Given the description of an element on the screen output the (x, y) to click on. 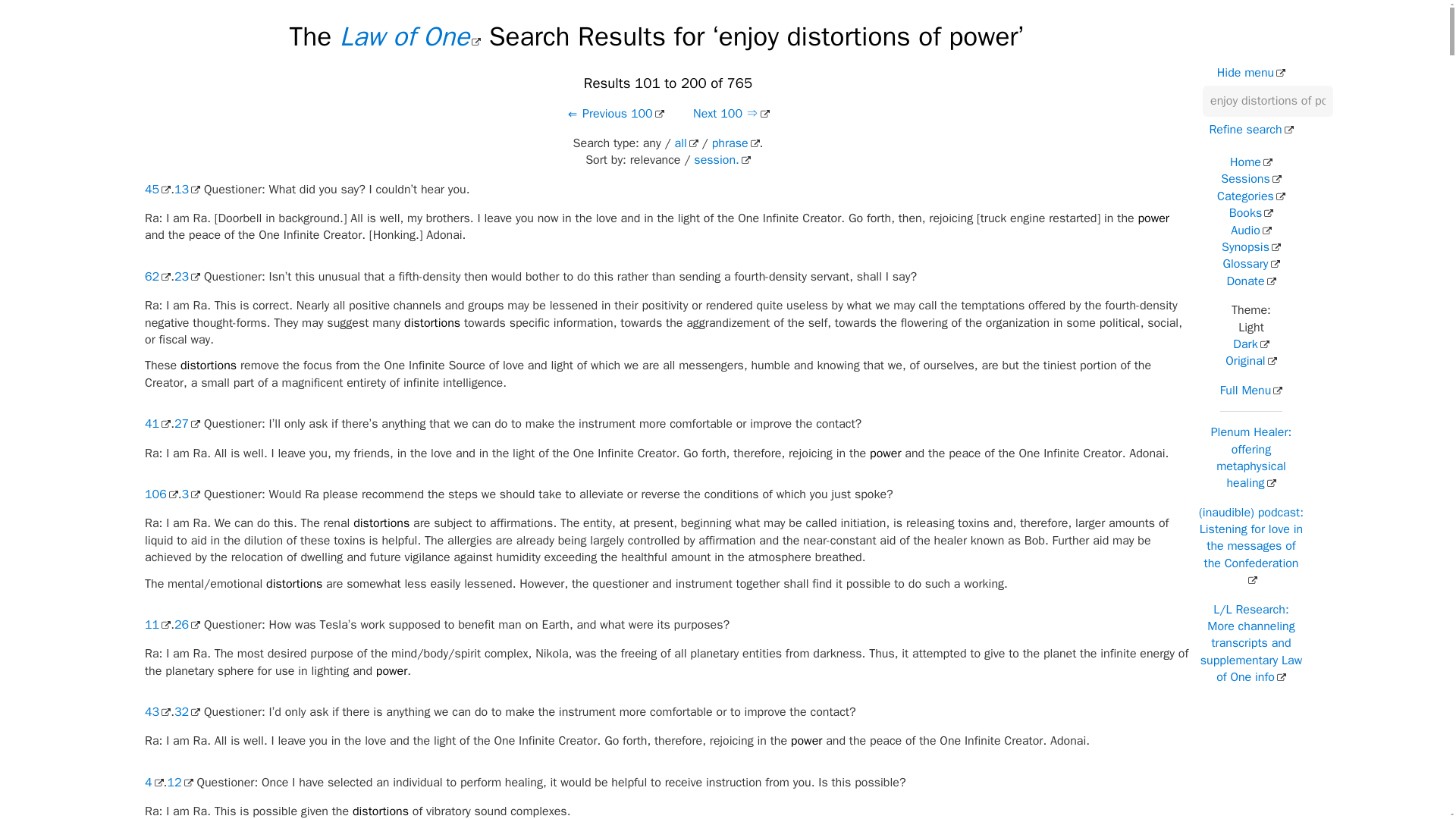
11 (157, 624)
Law of One (410, 36)
62 (157, 276)
26 (187, 624)
106 (160, 494)
phrase (735, 142)
43 (157, 711)
27 (187, 423)
41 (157, 423)
4 (153, 782)
